Given the description of an element on the screen output the (x, y) to click on. 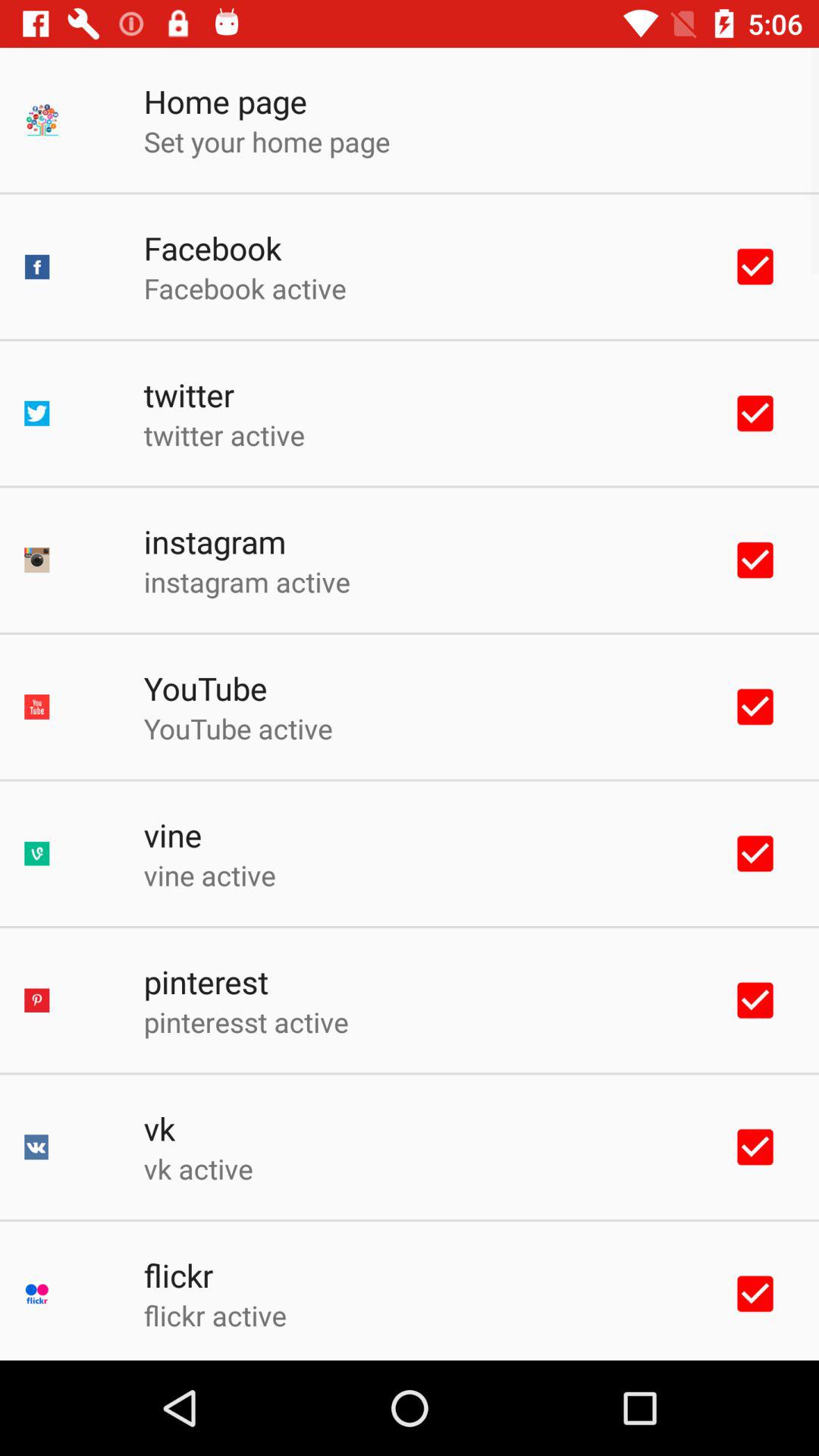
flip until the flickr active (214, 1315)
